Given the description of an element on the screen output the (x, y) to click on. 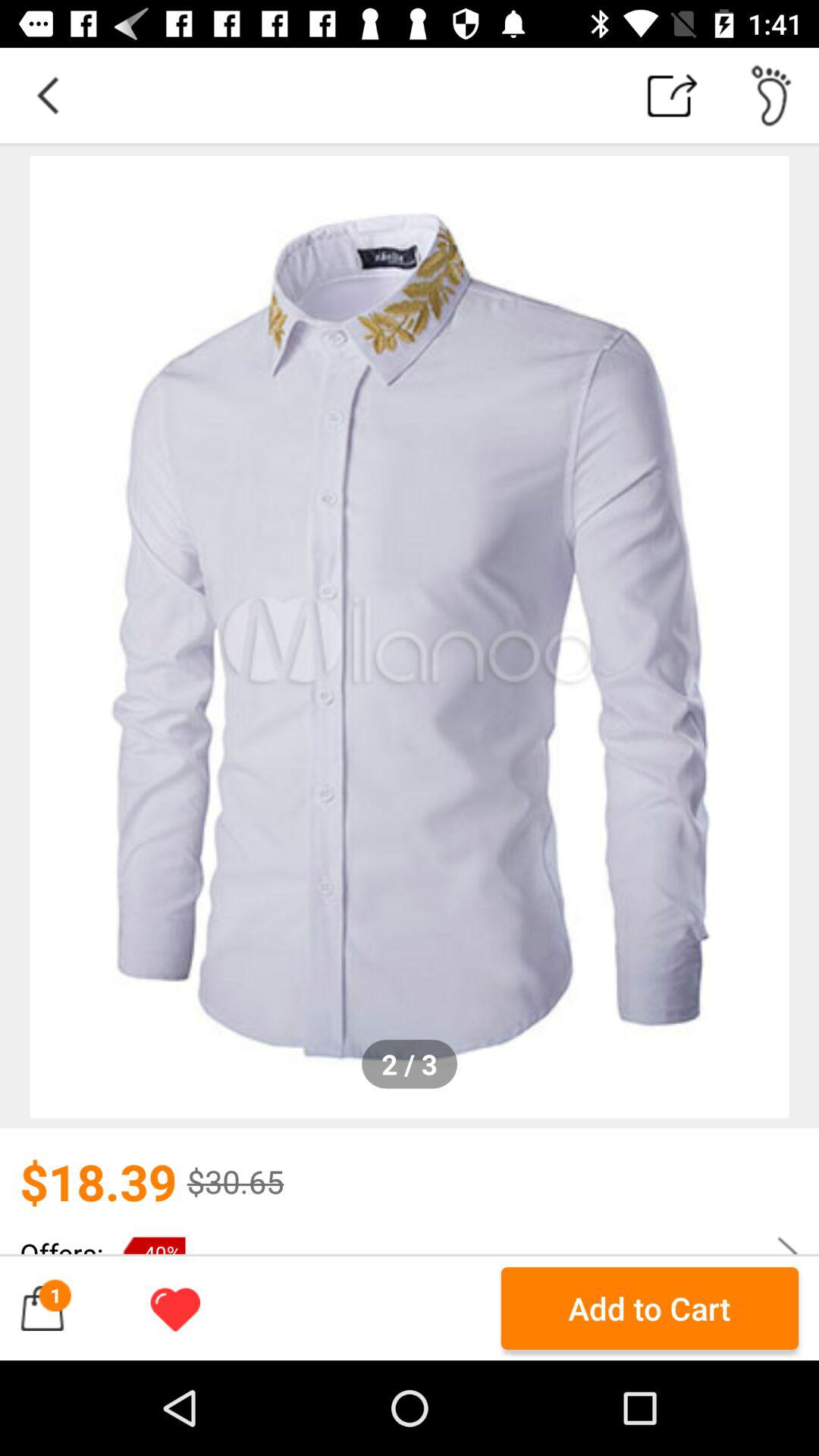
go back to search results (47, 95)
